Given the description of an element on the screen output the (x, y) to click on. 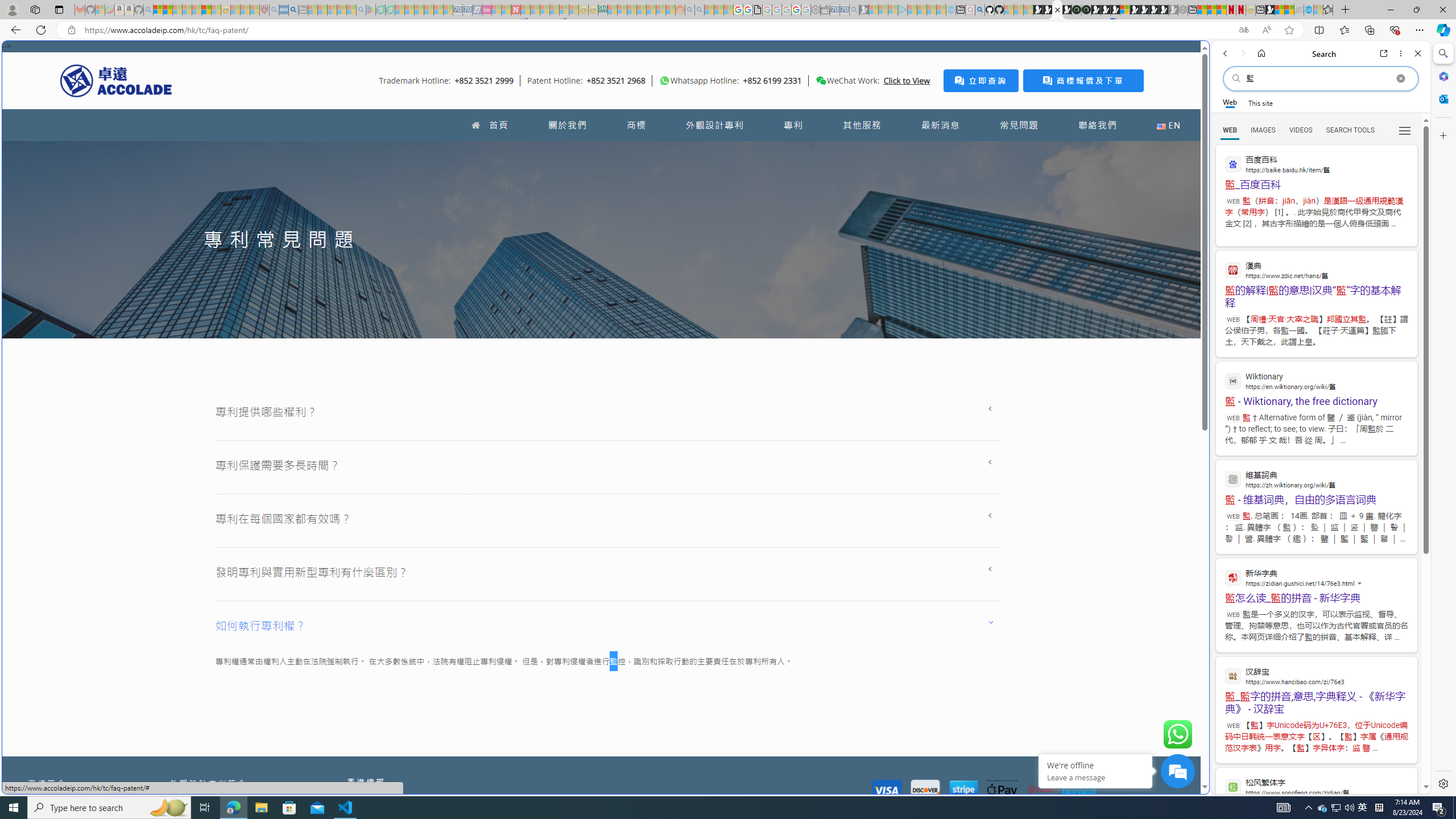
Earth has six continents not seven, radical new study claims (1288, 9)
